Given the description of an element on the screen output the (x, y) to click on. 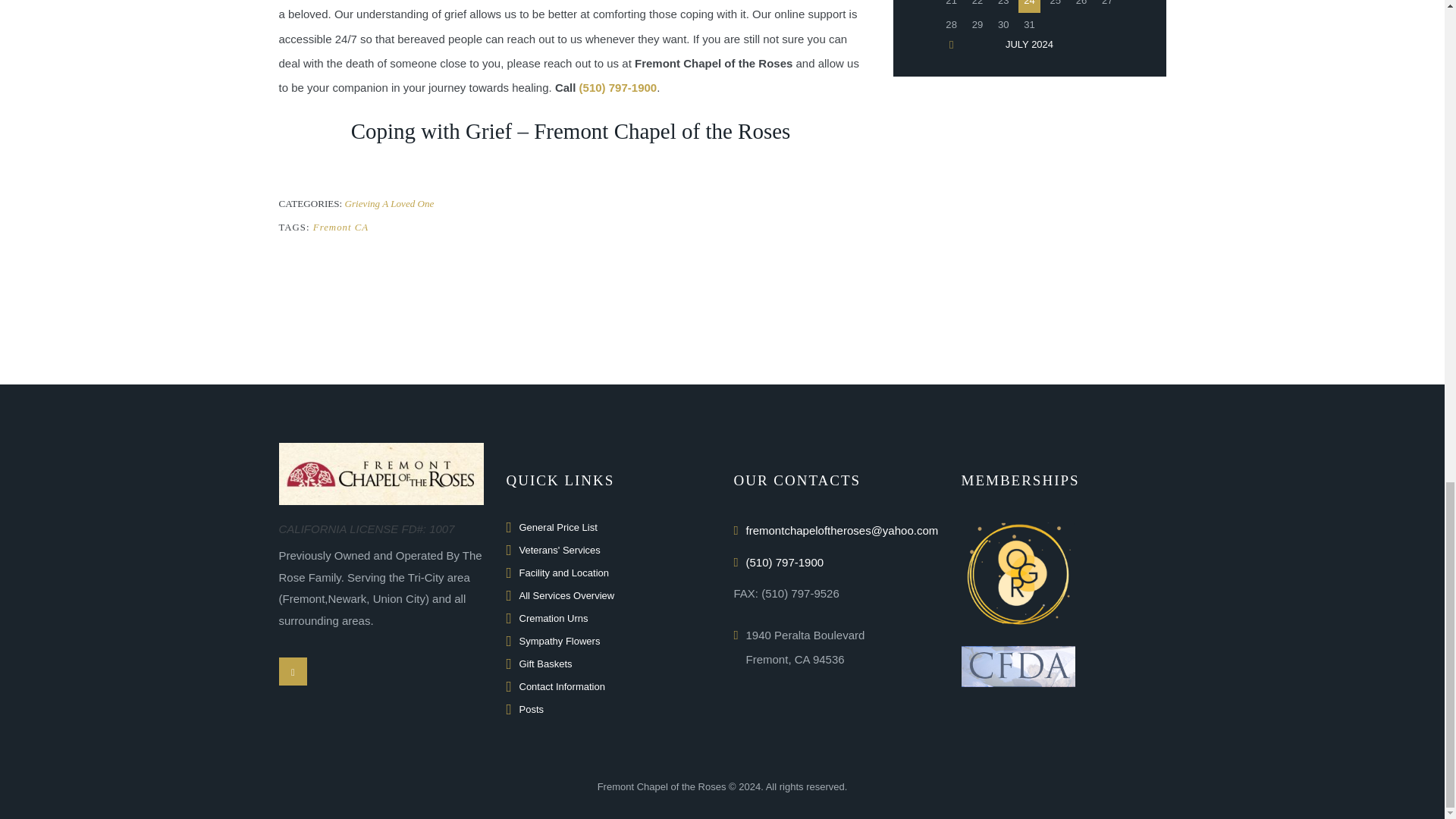
View posts for April 2024 (951, 44)
View posts for July 2024 (1029, 43)
